Given the description of an element on the screen output the (x, y) to click on. 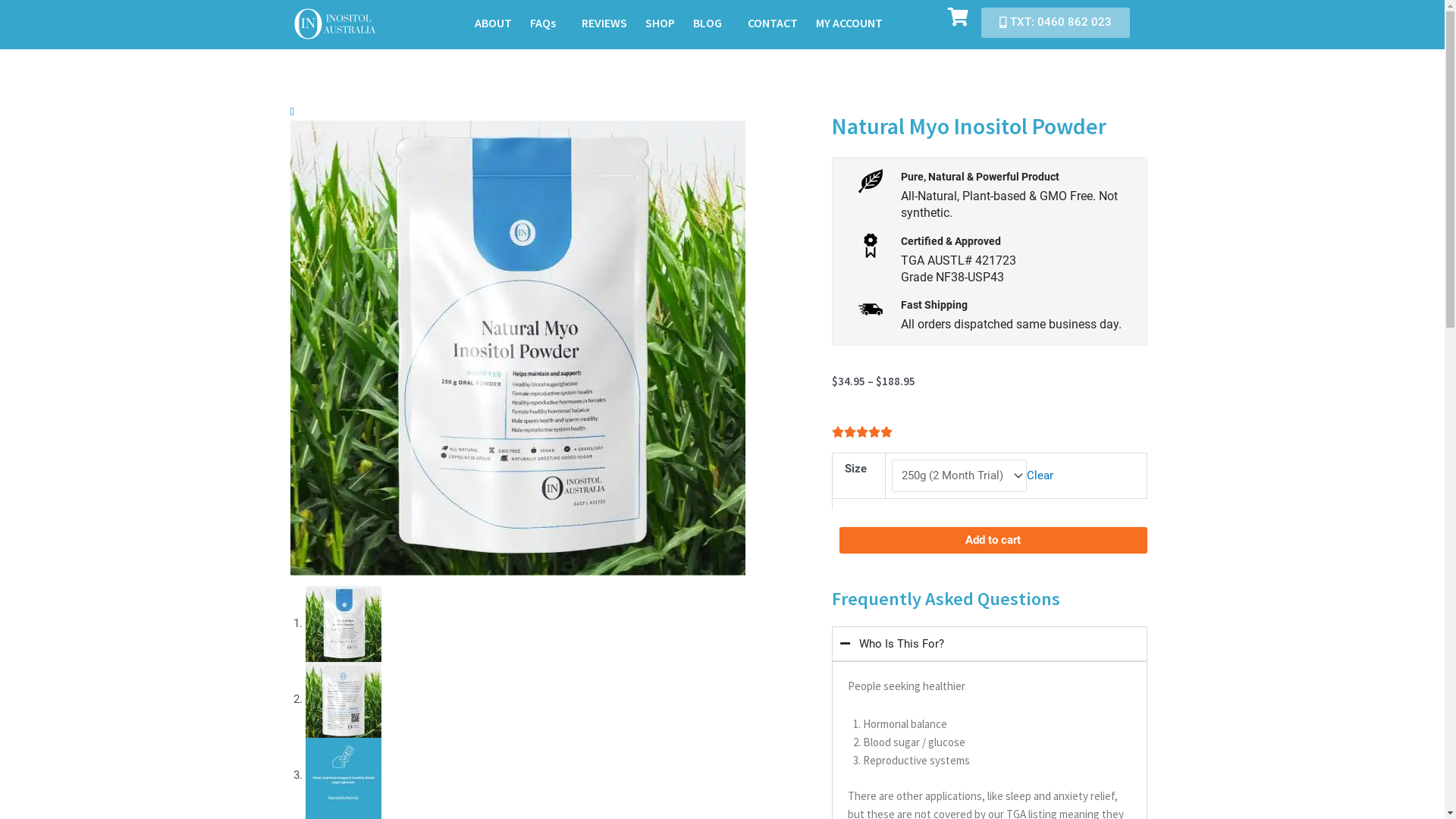
REVIEWS Element type: text (604, 22)
Add to cart Element type: text (992, 540)
Natural Myo Inositol Powder 1 Element type: hover (516, 347)
MY ACCOUNT Element type: text (848, 22)
CONTACT Element type: text (772, 22)
FAQs Element type: text (546, 22)
BLOG Element type: text (711, 22)
TXT: 0460 862 023 Element type: text (1055, 22)
Clear Element type: text (1039, 475)
ABOUT Element type: text (492, 22)
SHOP Element type: text (660, 22)
